Given the description of an element on the screen output the (x, y) to click on. 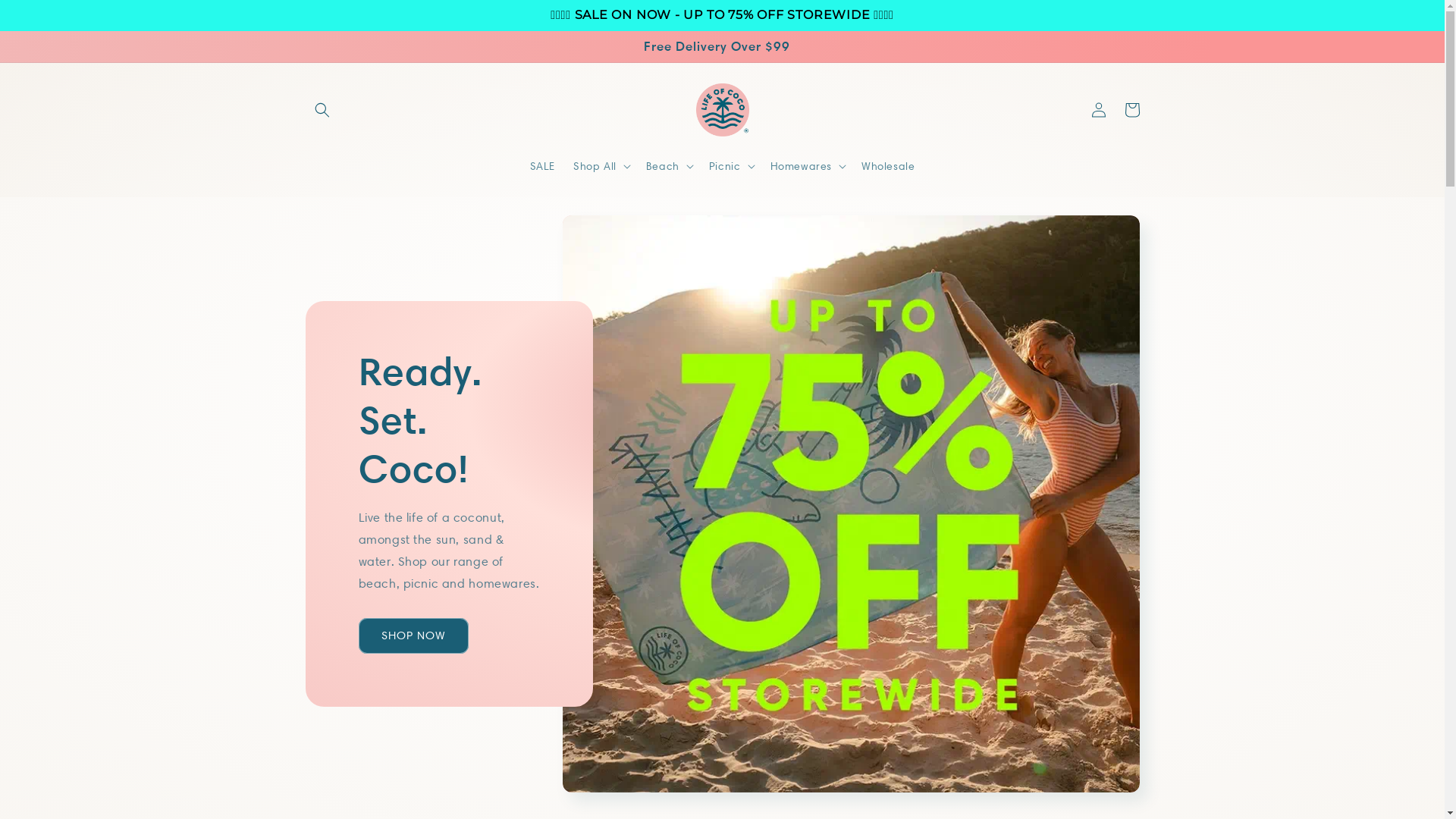
Log in Element type: text (1097, 109)
SALE Element type: text (542, 166)
Wholesale Element type: text (887, 166)
Cart Element type: text (1131, 109)
SHOP NOW Element type: text (412, 635)
